Given the description of an element on the screen output the (x, y) to click on. 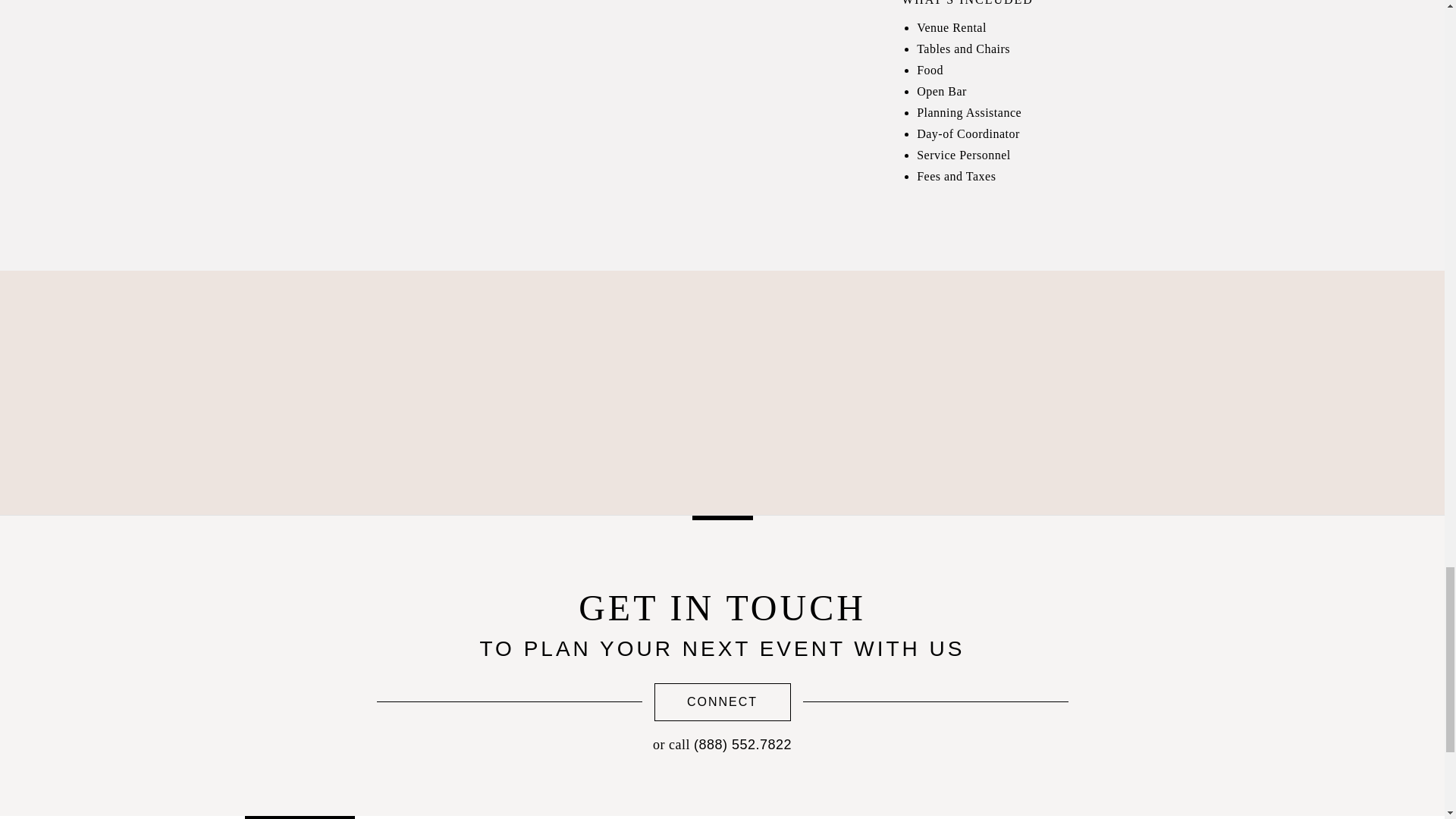
CONNECT (721, 702)
